Given the description of an element on the screen output the (x, y) to click on. 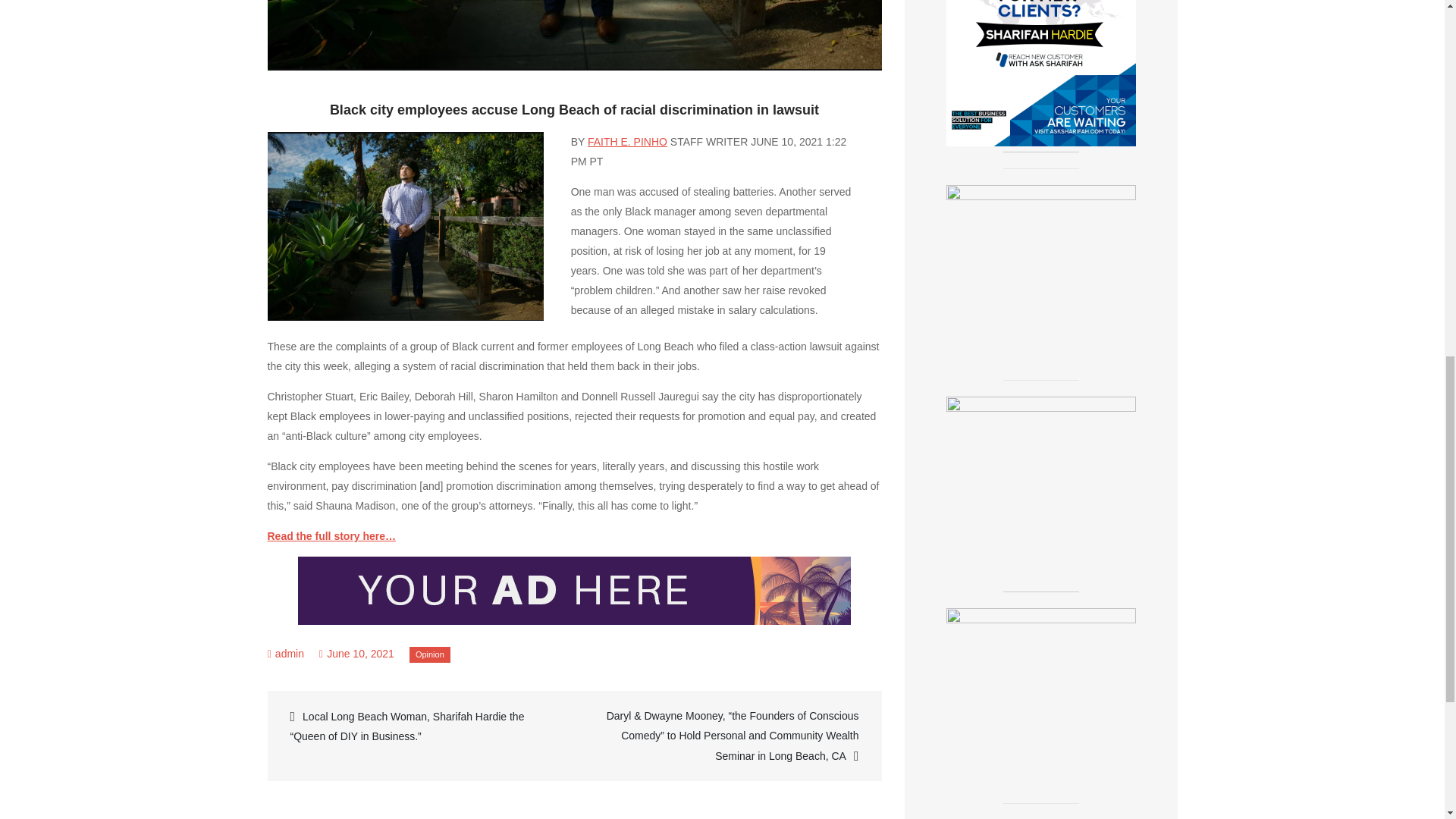
Opinion (429, 654)
FAITH E. PINHO (627, 141)
June 10, 2021 (356, 653)
admin (289, 653)
